Given the description of an element on the screen output the (x, y) to click on. 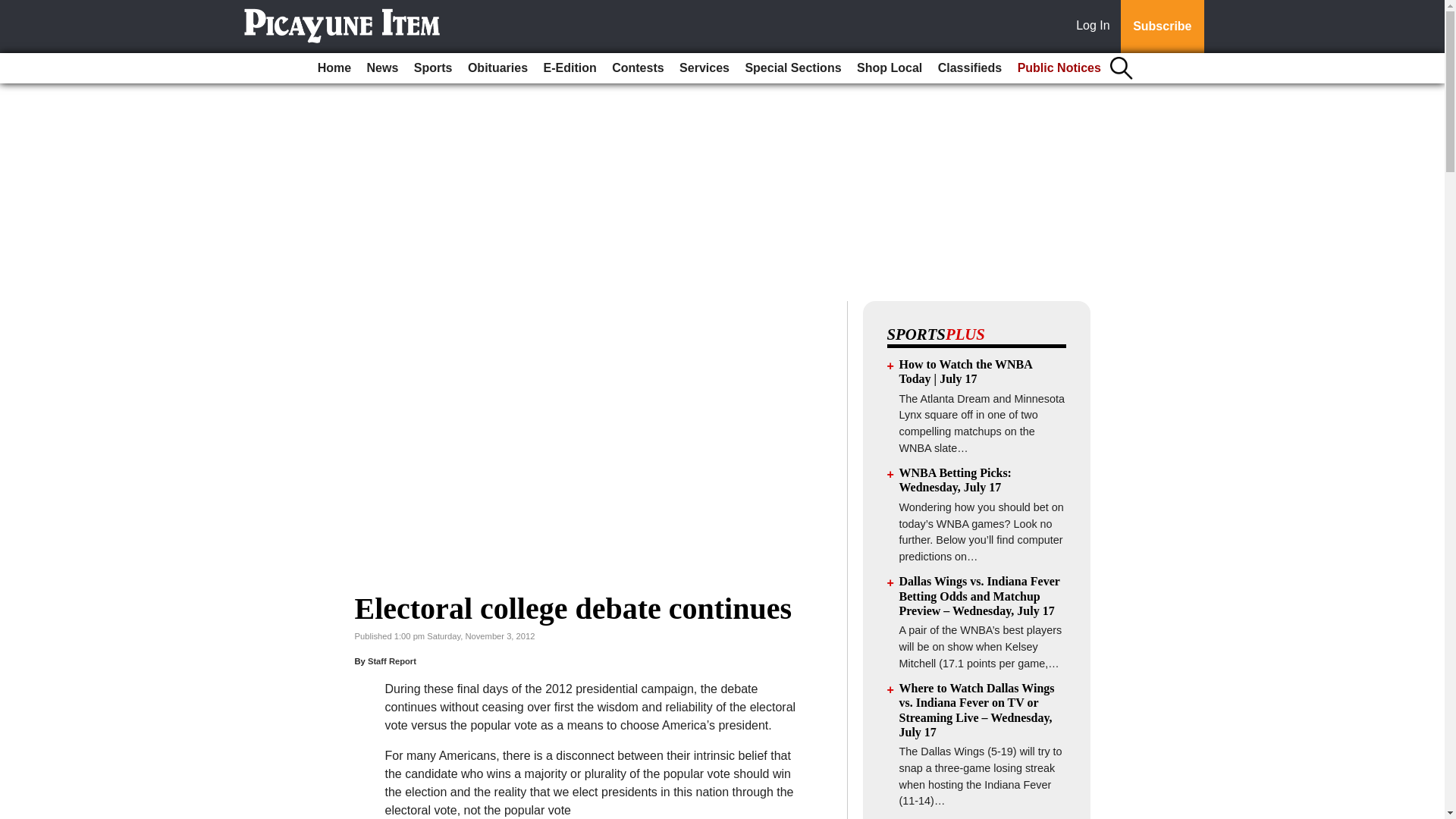
Staff Report (392, 660)
Public Notices (1058, 68)
Home (333, 68)
Services (703, 68)
Obituaries (497, 68)
Classifieds (969, 68)
News (382, 68)
Contests (637, 68)
WNBA Betting Picks: Wednesday, July 17 (955, 479)
Go (13, 9)
Special Sections (792, 68)
Sports (432, 68)
E-Edition (569, 68)
Shop Local (889, 68)
Subscribe (1162, 26)
